Given the description of an element on the screen output the (x, y) to click on. 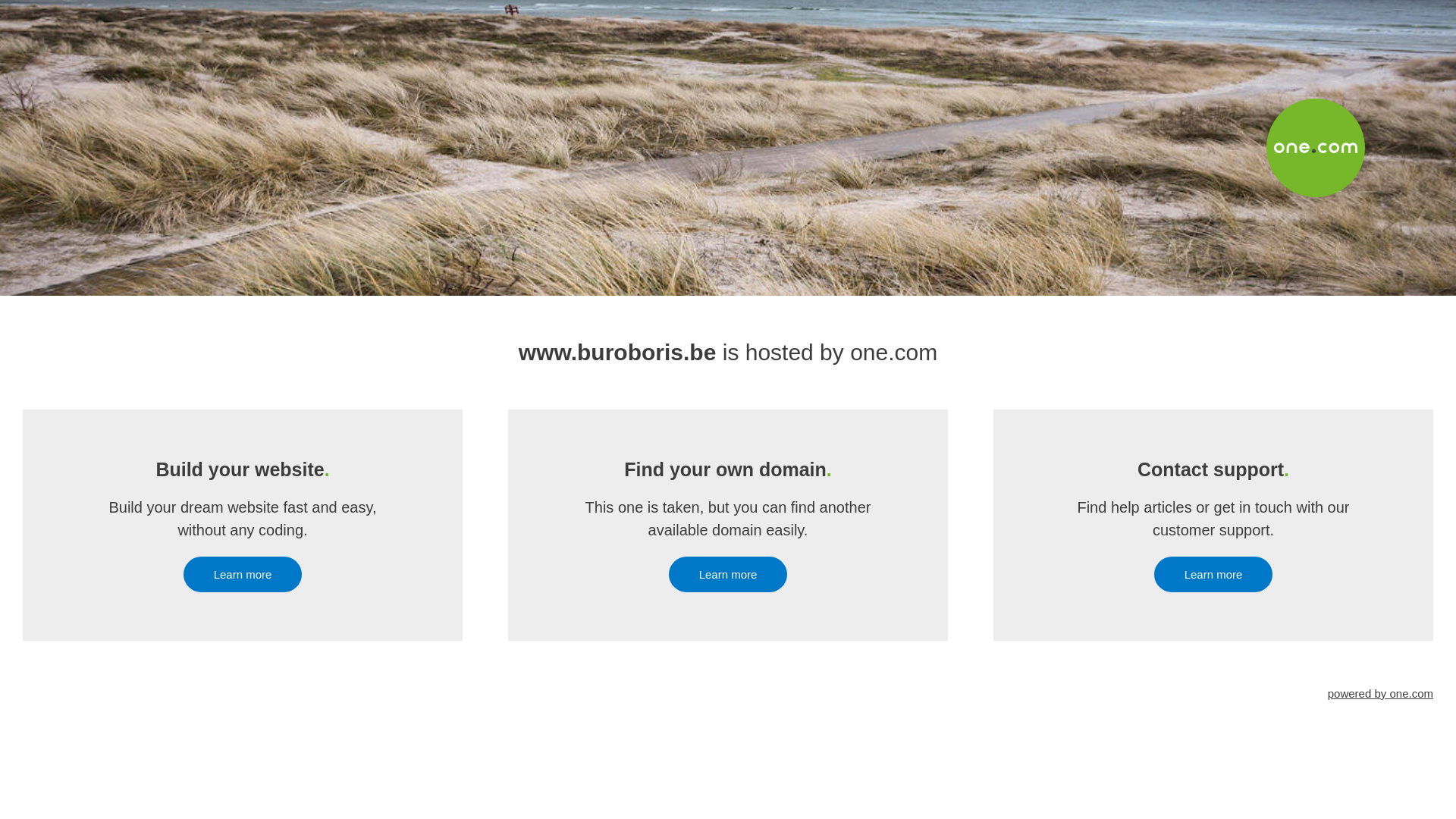
Learn more Element type: text (1213, 574)
powered by one.com Element type: text (1380, 693)
Learn more Element type: text (242, 574)
Learn more Element type: text (727, 574)
